Given the description of an element on the screen output the (x, y) to click on. 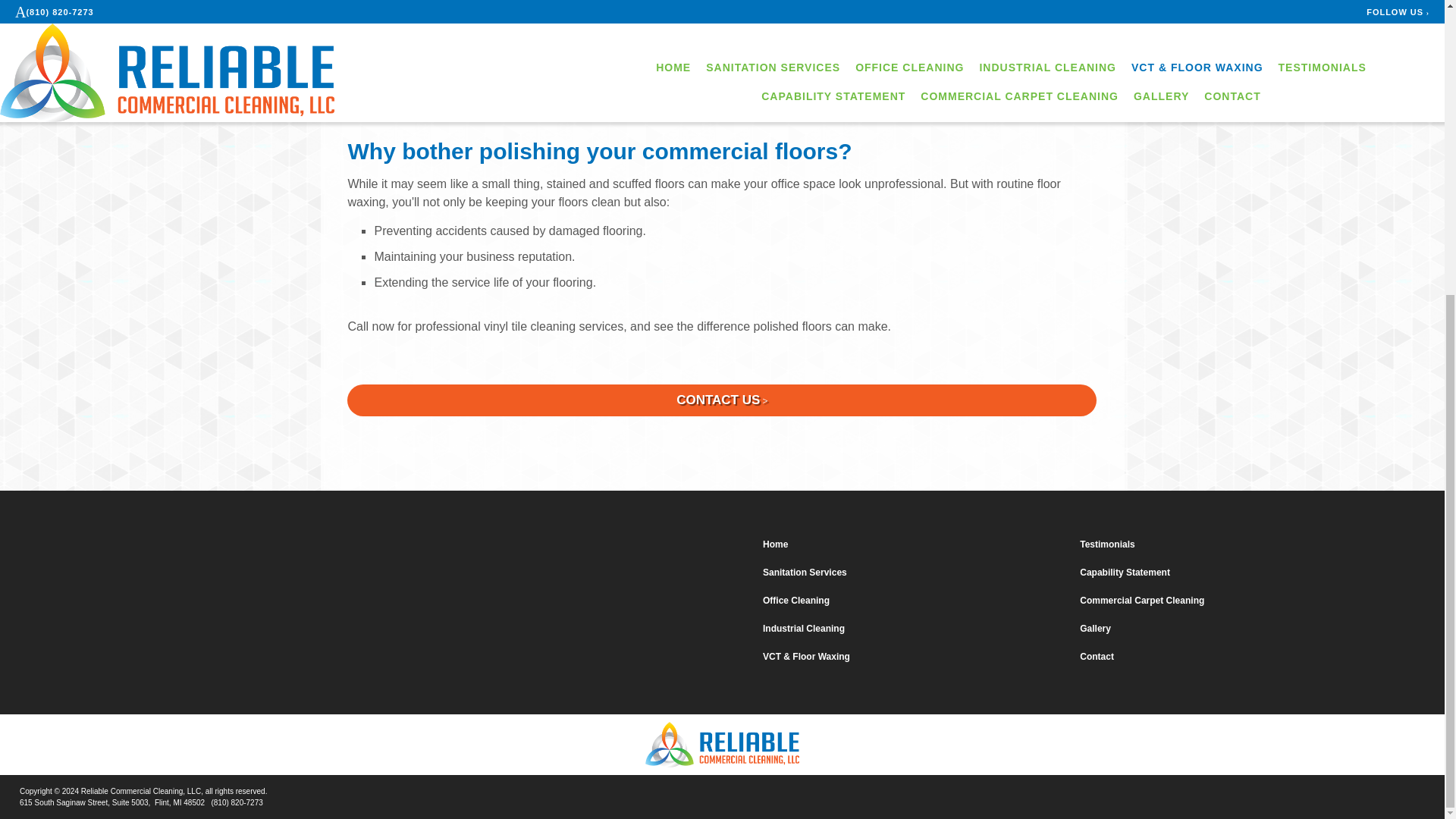
Sanitation Services (914, 574)
Home (914, 545)
Testimonials (1232, 545)
Capability Statement (1232, 574)
Reliable Commercial Cleaning, LLC (722, 744)
Contact (1232, 657)
Industrial Cleaning (914, 629)
Office Cleaning (914, 601)
CONTACT US (721, 400)
Gallery (1232, 629)
Commercial Carpet Cleaning (1232, 601)
